Given the description of an element on the screen output the (x, y) to click on. 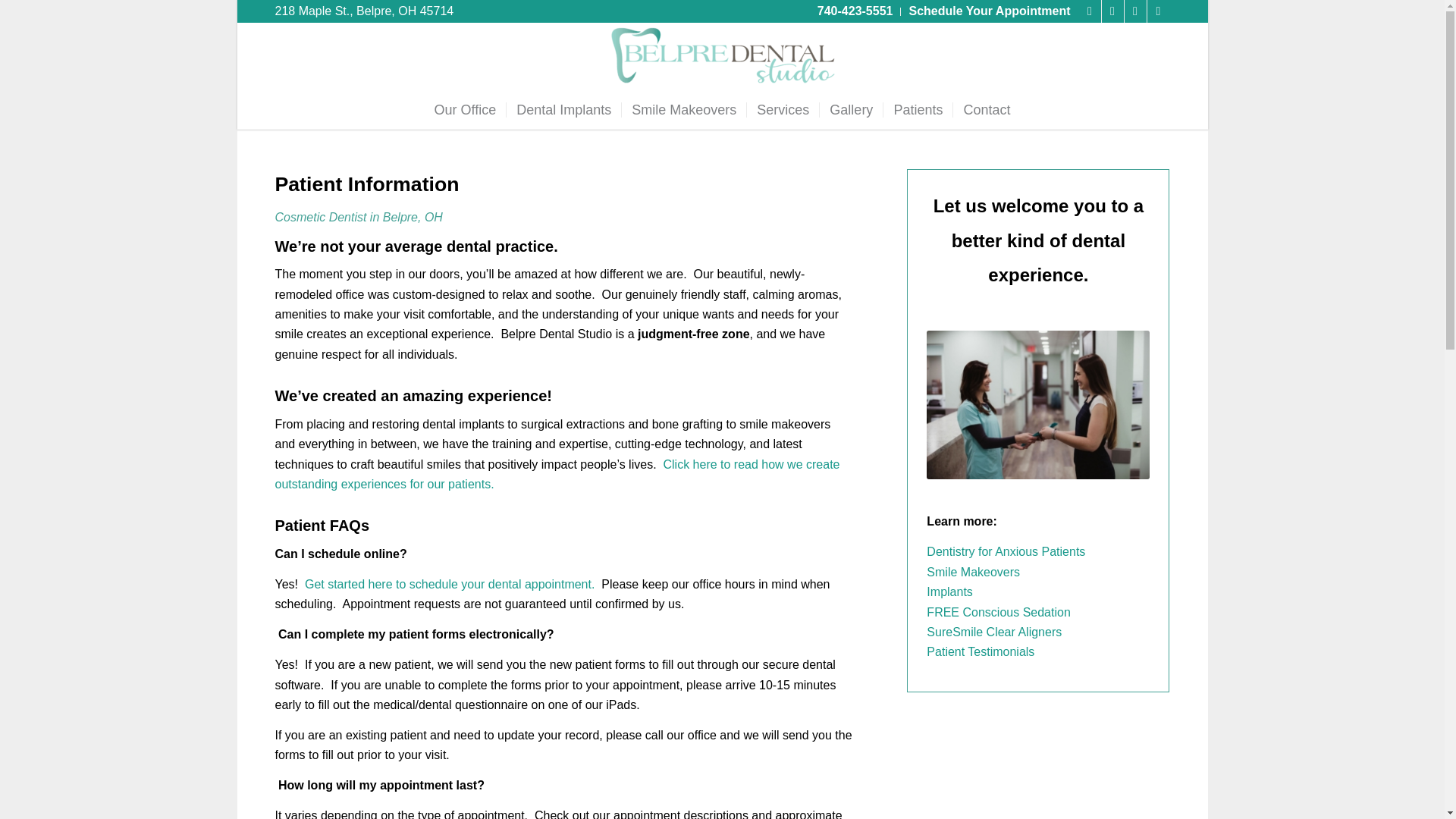
218 Maple St., Belpre, OH 45714 (363, 10)
740-423-5551 (854, 11)
Dental Implants (563, 109)
Services (781, 109)
Smile Makeovers (683, 109)
Our Office (465, 109)
